Given the description of an element on the screen output the (x, y) to click on. 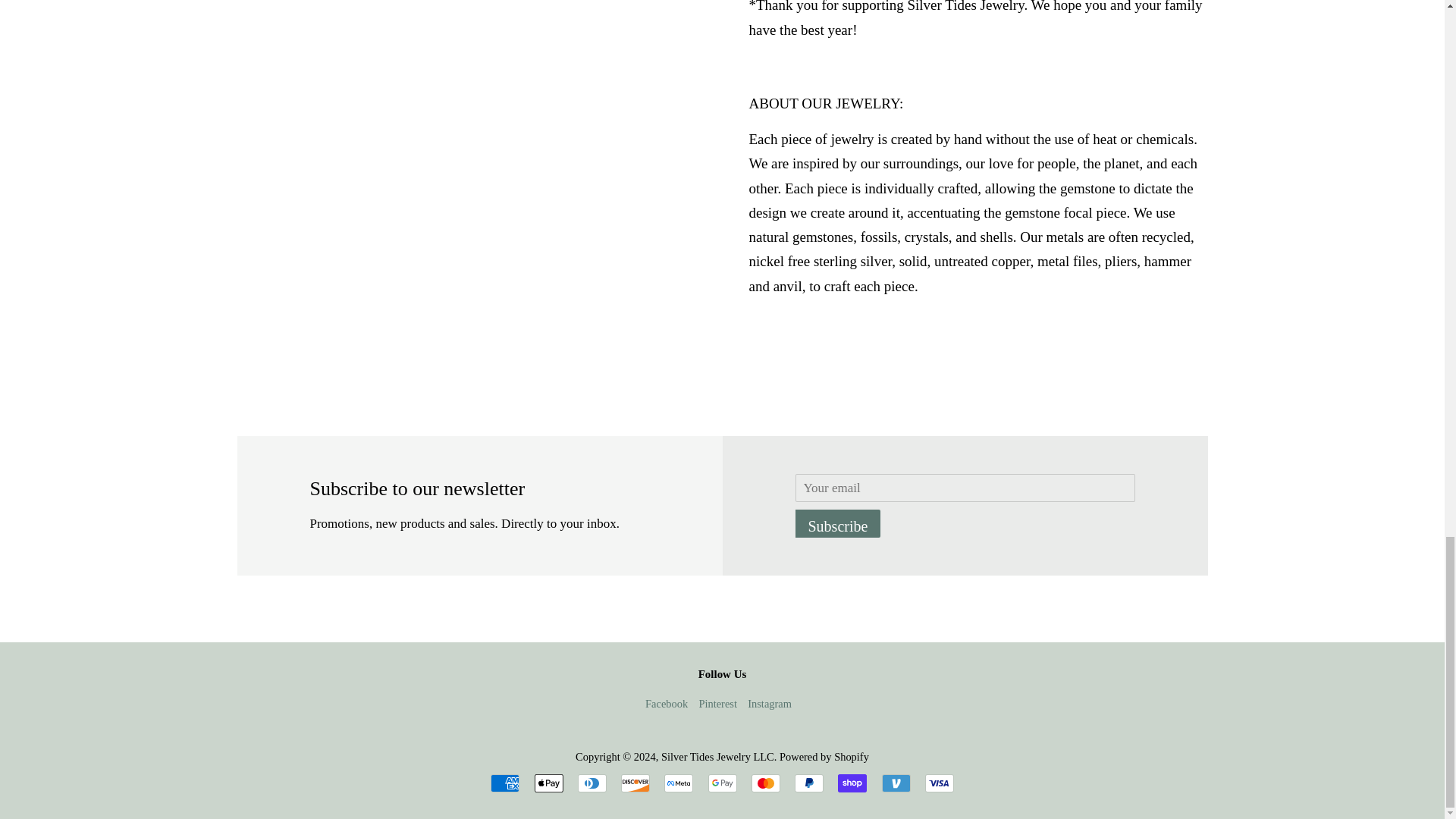
Silver Tides Jewelry LLC on Facebook (666, 703)
Google Pay (721, 782)
Shop Pay (852, 782)
Instagram (770, 703)
Silver Tides Jewelry LLC on Pinterest (717, 703)
Discover (635, 782)
Silver Tides Jewelry LLC (717, 756)
Facebook (666, 703)
Venmo (895, 782)
Pinterest (717, 703)
